Given the description of an element on the screen output the (x, y) to click on. 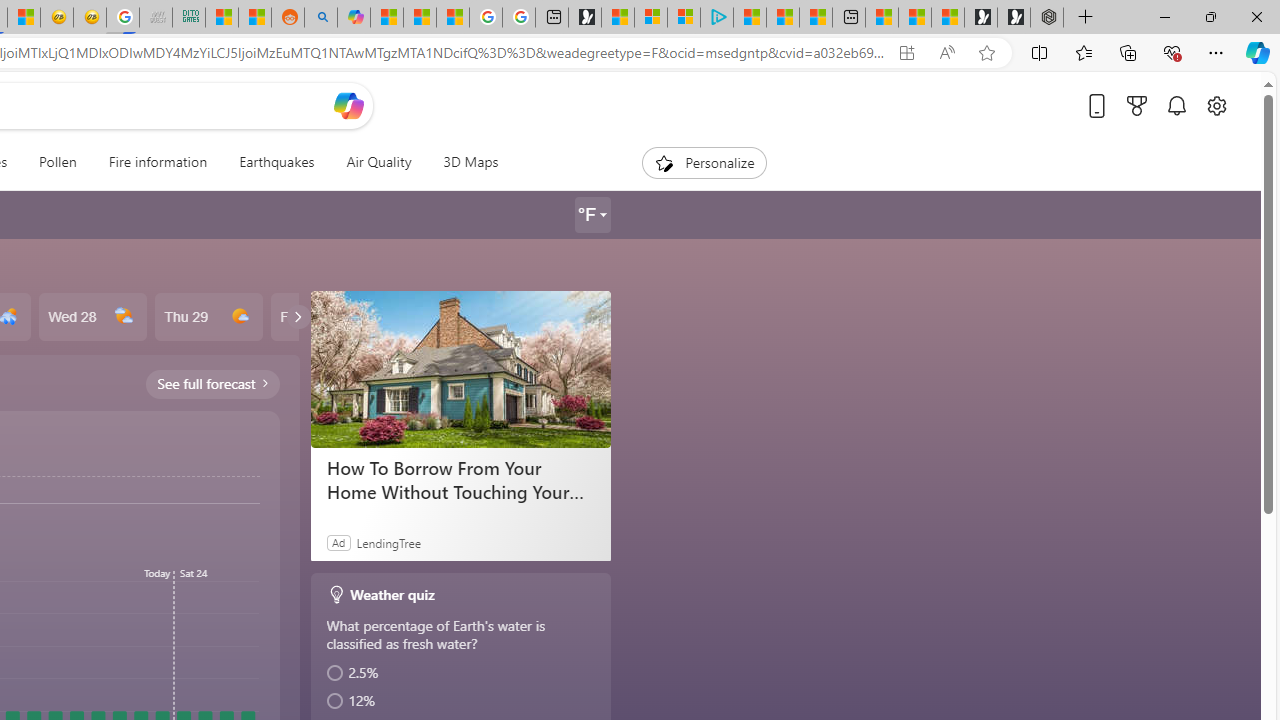
Wed 28 (92, 317)
Utah sues federal government - Search (320, 17)
Air Quality (378, 162)
Thu 29 (207, 317)
These 3 Stocks Pay You More Than 5% to Own Them (815, 17)
